Given the description of an element on the screen output the (x, y) to click on. 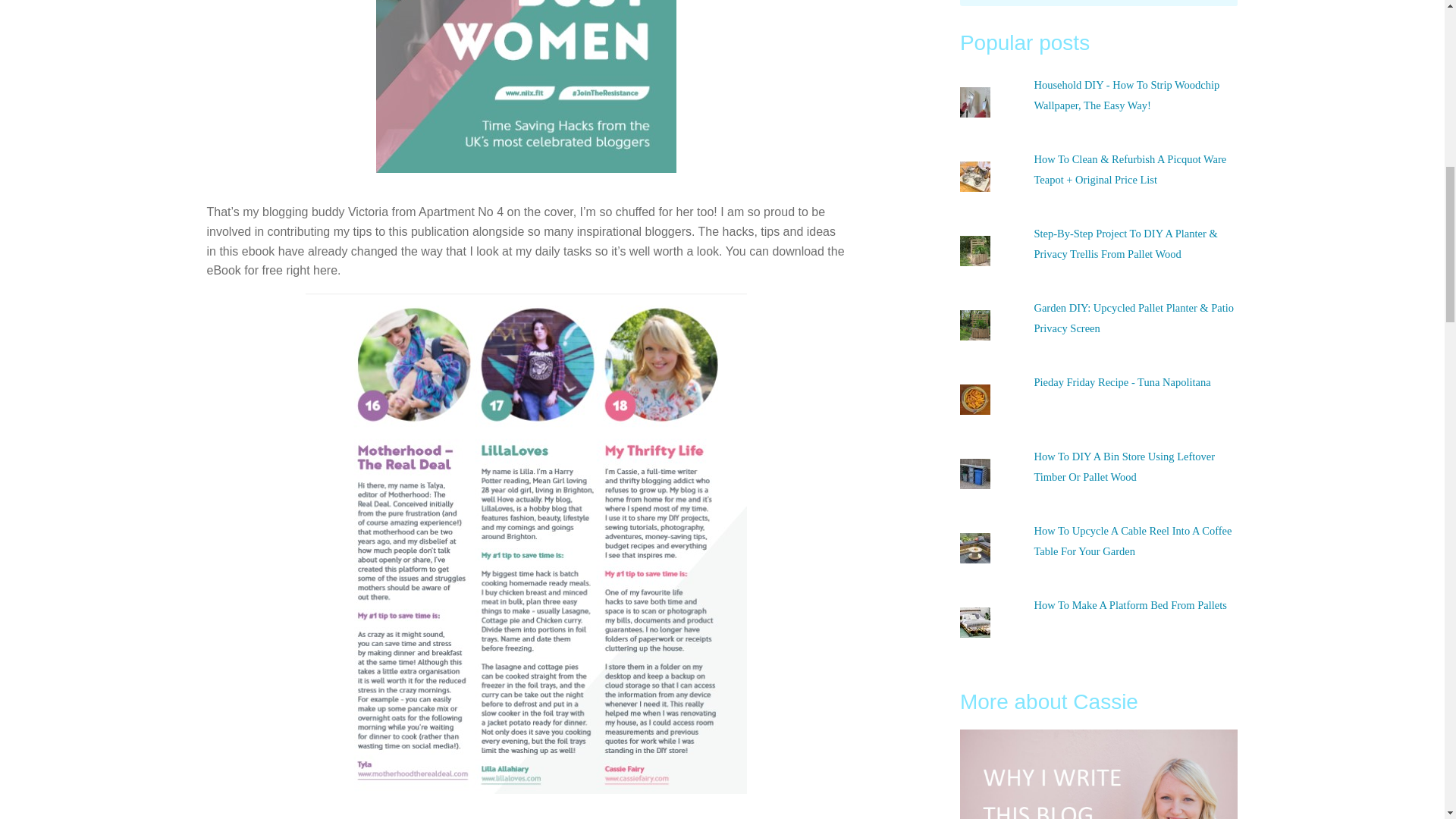
How to DIY a bin store using leftover timber or pallet wood (1123, 466)
Pieday Friday Recipe - Tuna Napolitana (1121, 381)
